Given the description of an element on the screen output the (x, y) to click on. 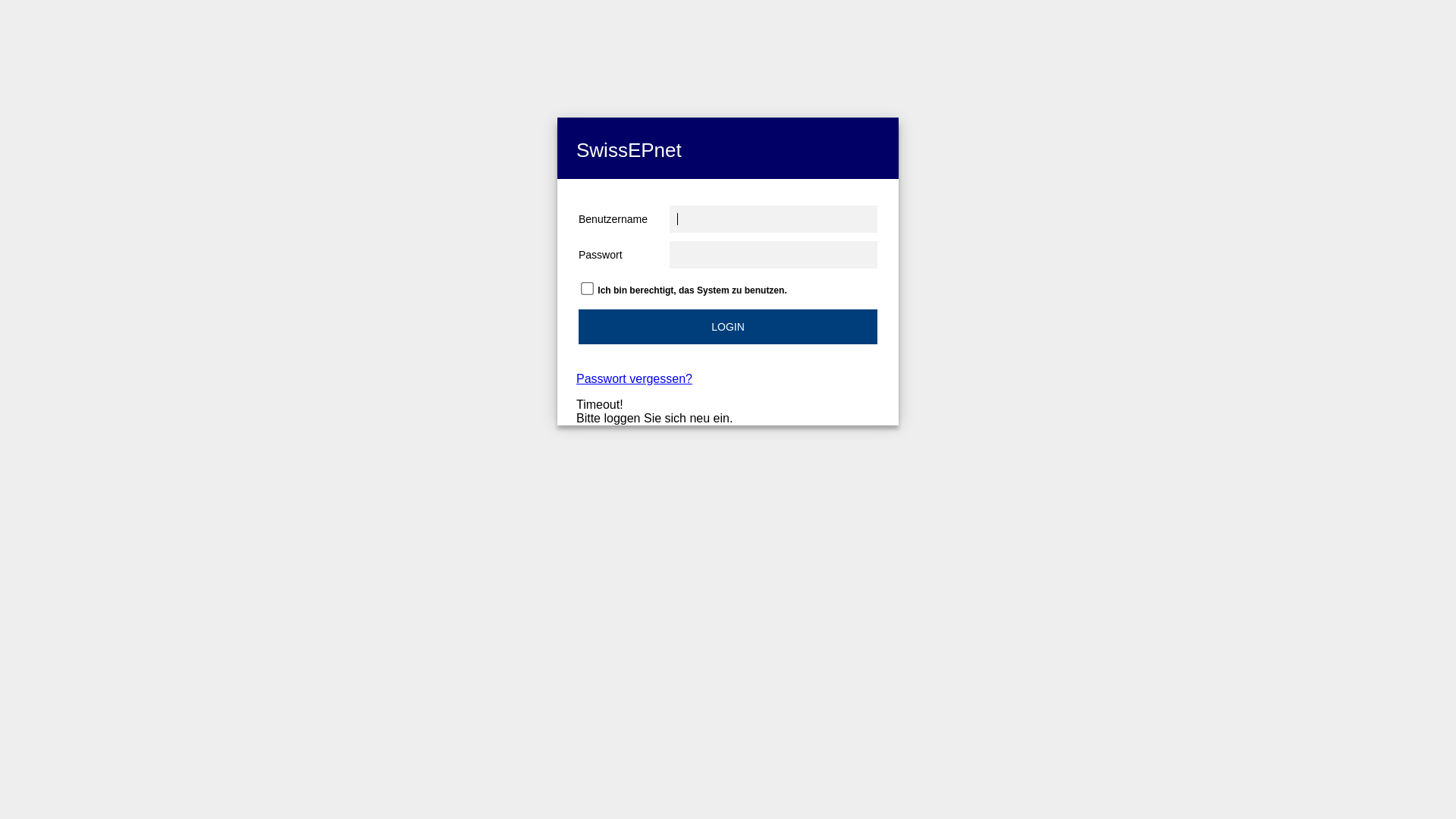
Passwort vergessen? Element type: text (634, 378)
Login Element type: text (727, 326)
